Given the description of an element on the screen output the (x, y) to click on. 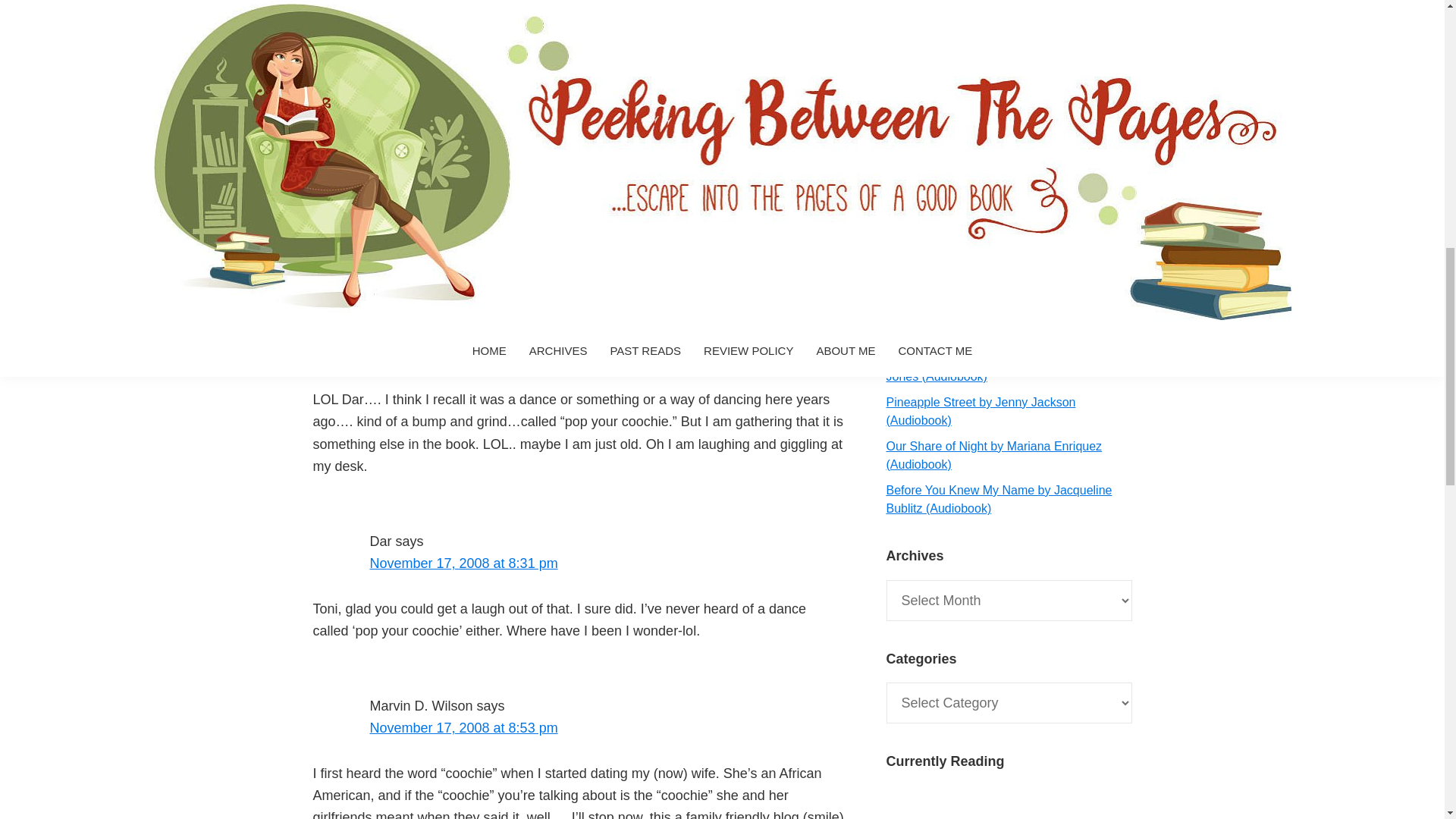
November 17, 2008 at 8:53 pm (463, 727)
Subscribe (1008, 239)
Uncategorized (420, 198)
November 17, 2008 at 8:31 pm (463, 563)
Subscribe (1008, 239)
November 17, 2008 at 8:18 pm (463, 354)
